Given the description of an element on the screen output the (x, y) to click on. 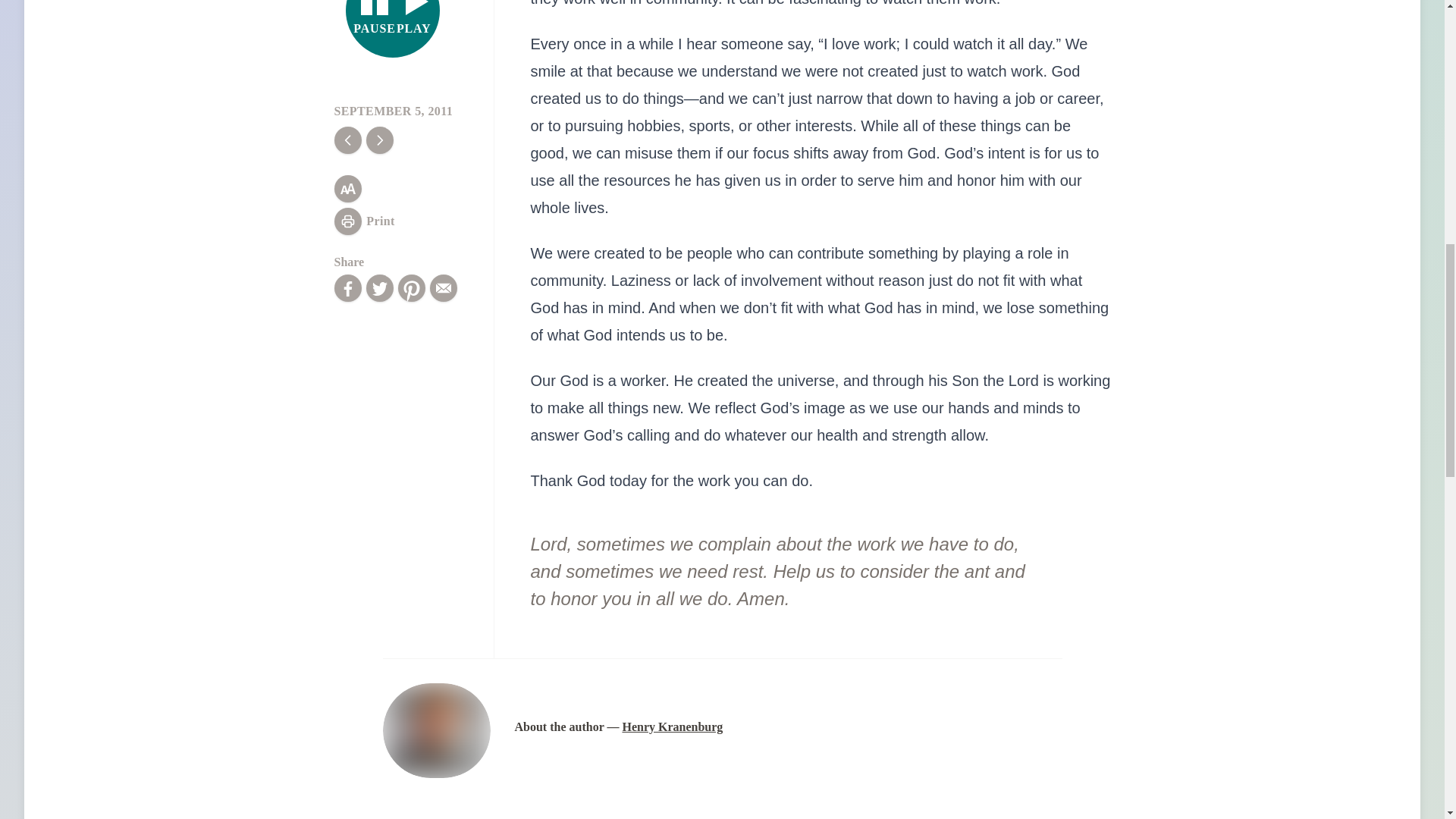
Share on Pinterest (411, 288)
Henry Kranenburg (671, 726)
Share on Twitter (379, 288)
Share on Twitter (379, 288)
Print (363, 221)
Share on Facebook (347, 288)
Share on Pinterest (411, 288)
Share by Email (443, 288)
Share on Facebook (347, 288)
Share by Email (392, 28)
